Given the description of an element on the screen output the (x, y) to click on. 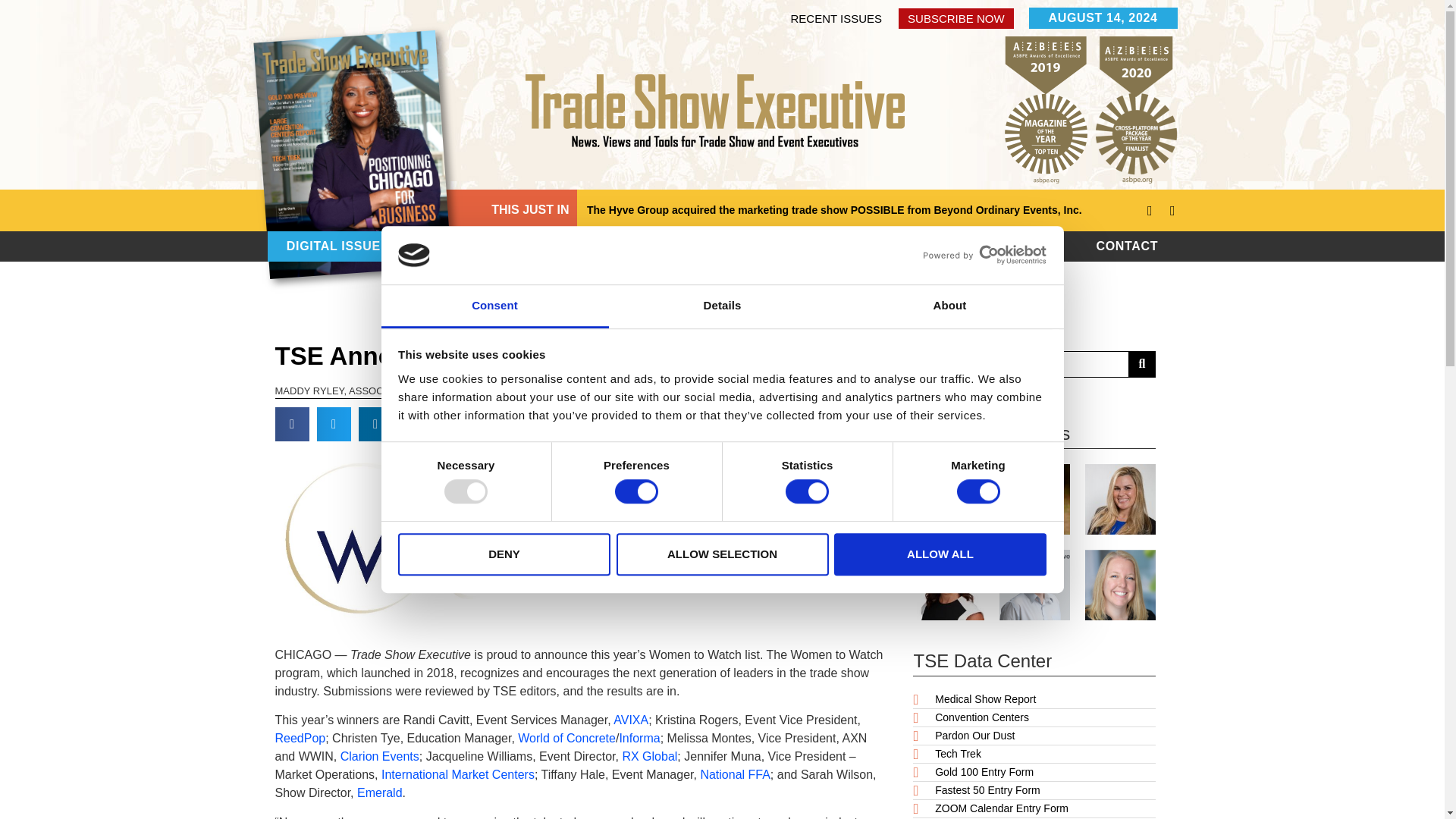
Details (721, 306)
Consent (494, 306)
About (948, 306)
